Given the description of an element on the screen output the (x, y) to click on. 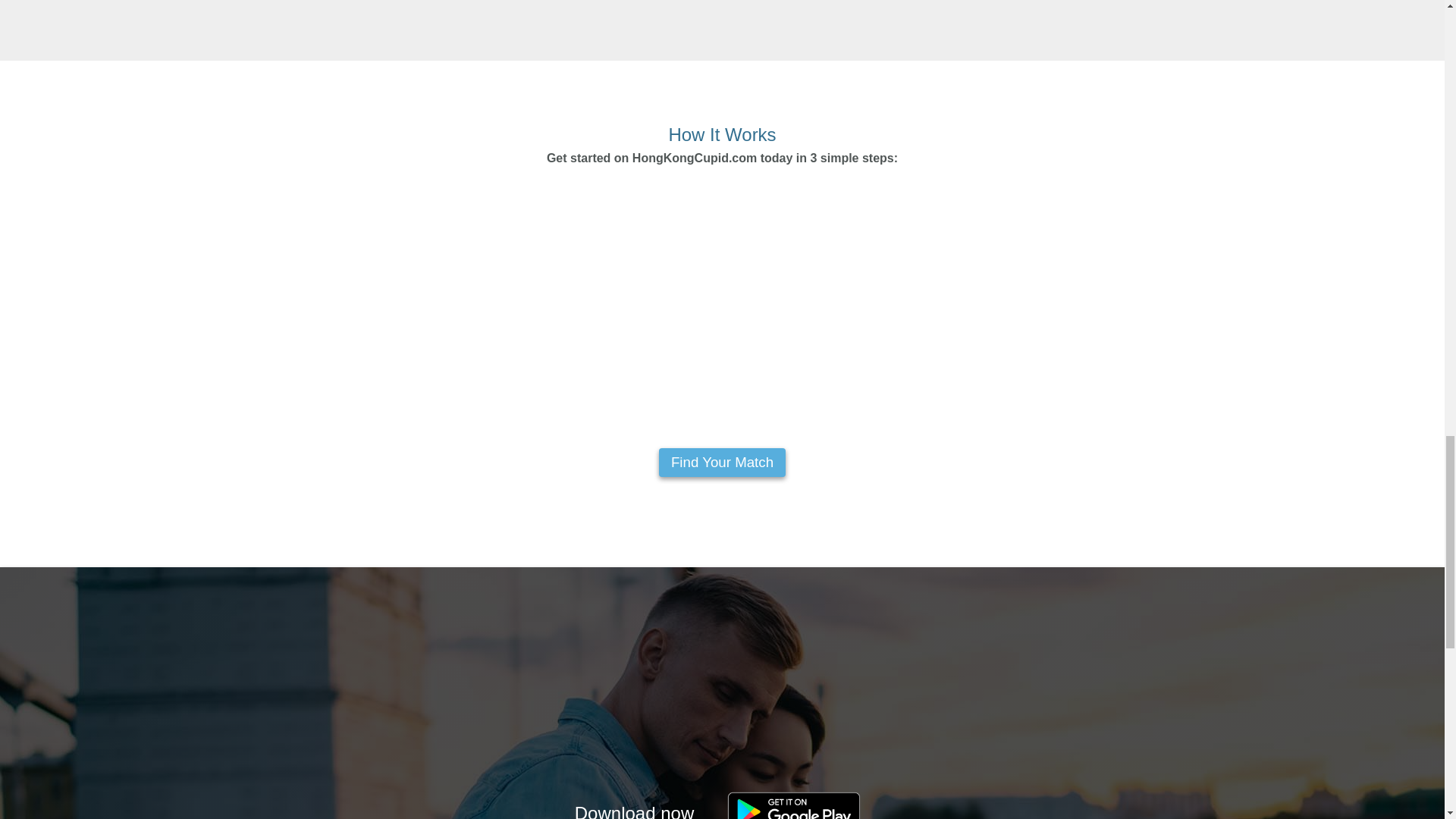
Find Your Match (722, 462)
